Given the description of an element on the screen output the (x, y) to click on. 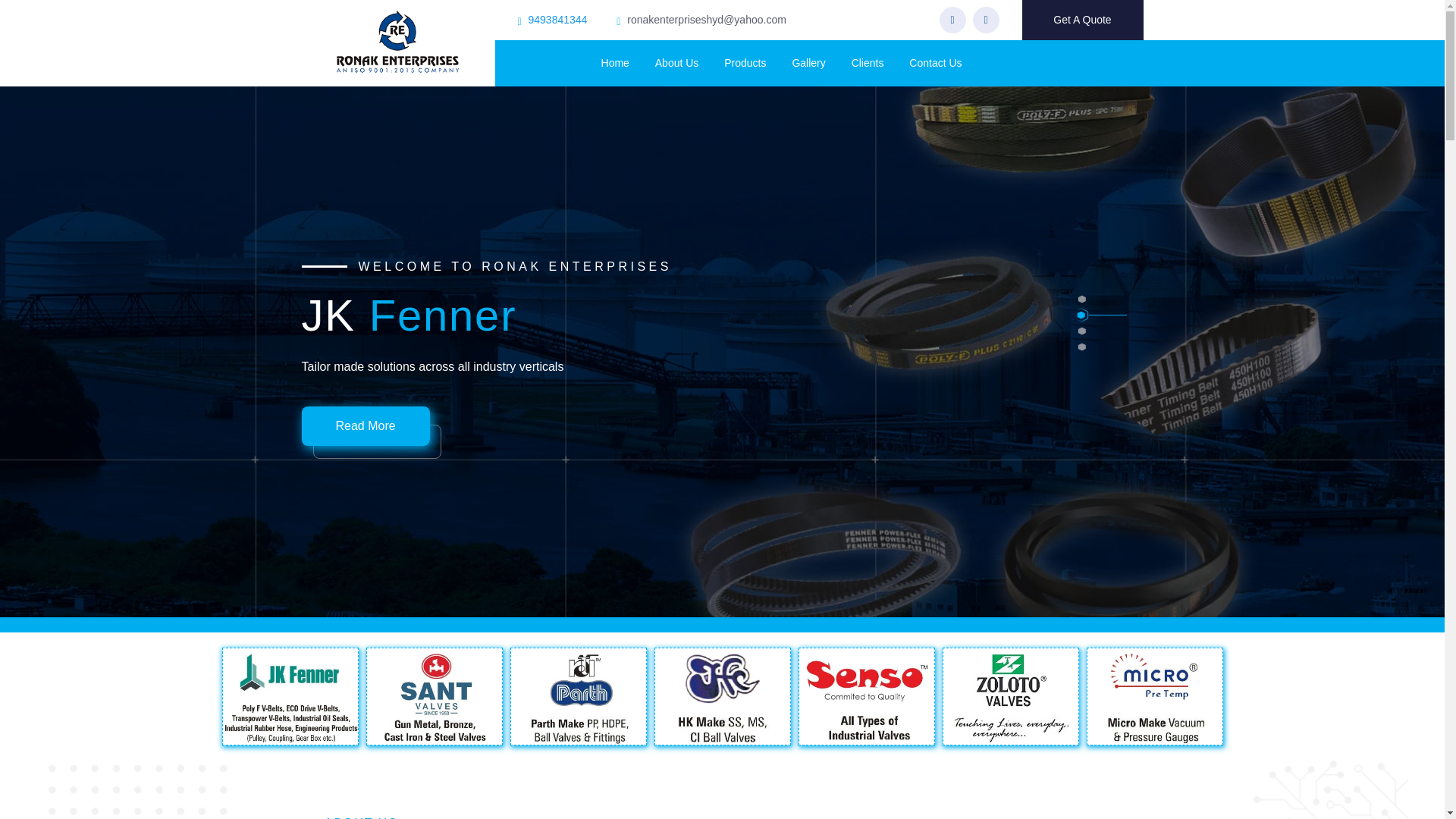
LinkedIn (985, 19)
Get A Quote (1082, 20)
Read More (365, 425)
9493841344 (558, 19)
Facebook (952, 19)
Contact Us (934, 63)
Products (744, 63)
About Us (676, 63)
